Given the description of an element on the screen output the (x, y) to click on. 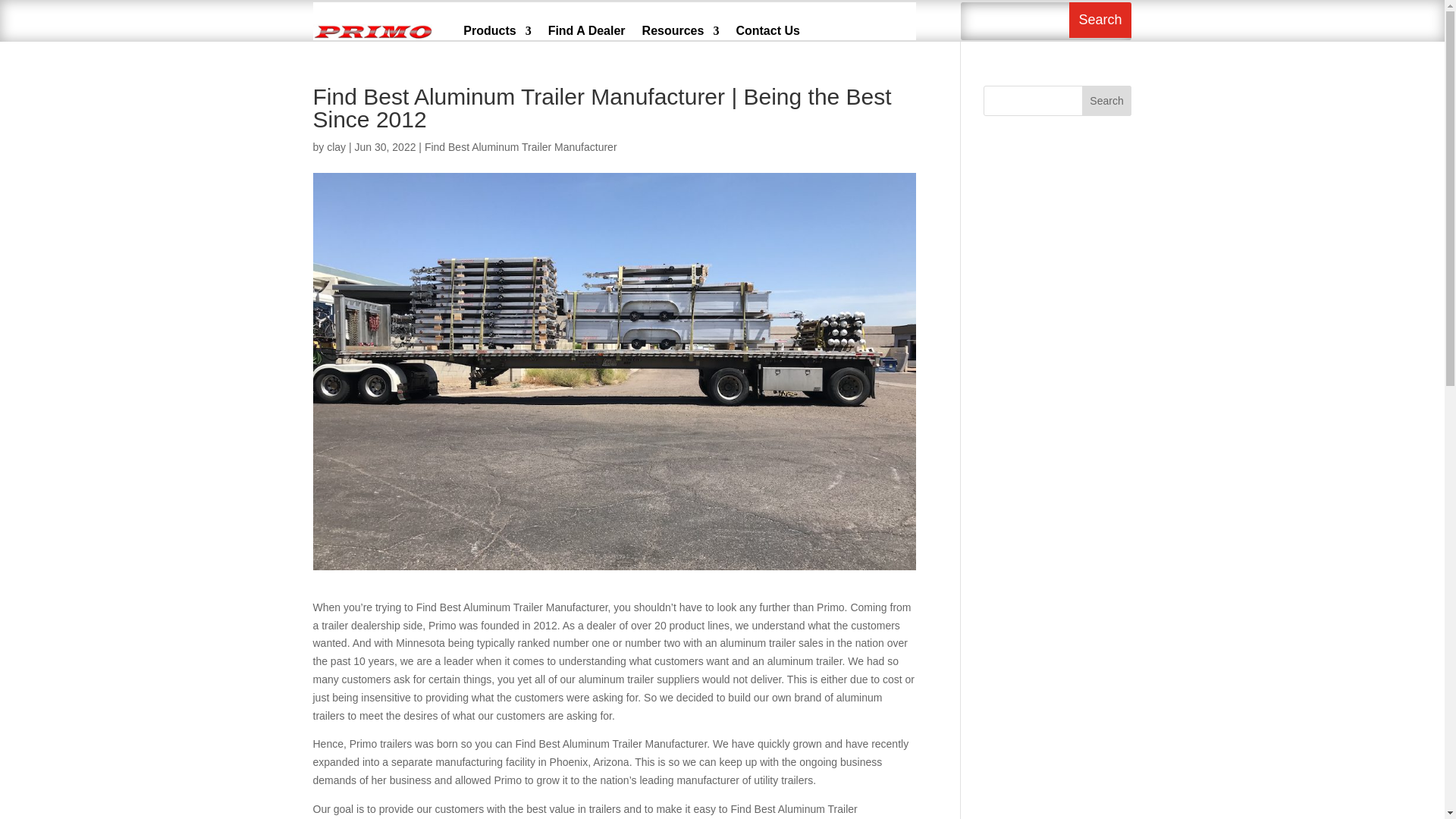
Products (497, 30)
Search (1100, 19)
Contact Us (767, 30)
Search (1106, 100)
Posts by clay (336, 146)
Search (1100, 19)
Resources (680, 30)
Find A Dealer (587, 30)
